Given the description of an element on the screen output the (x, y) to click on. 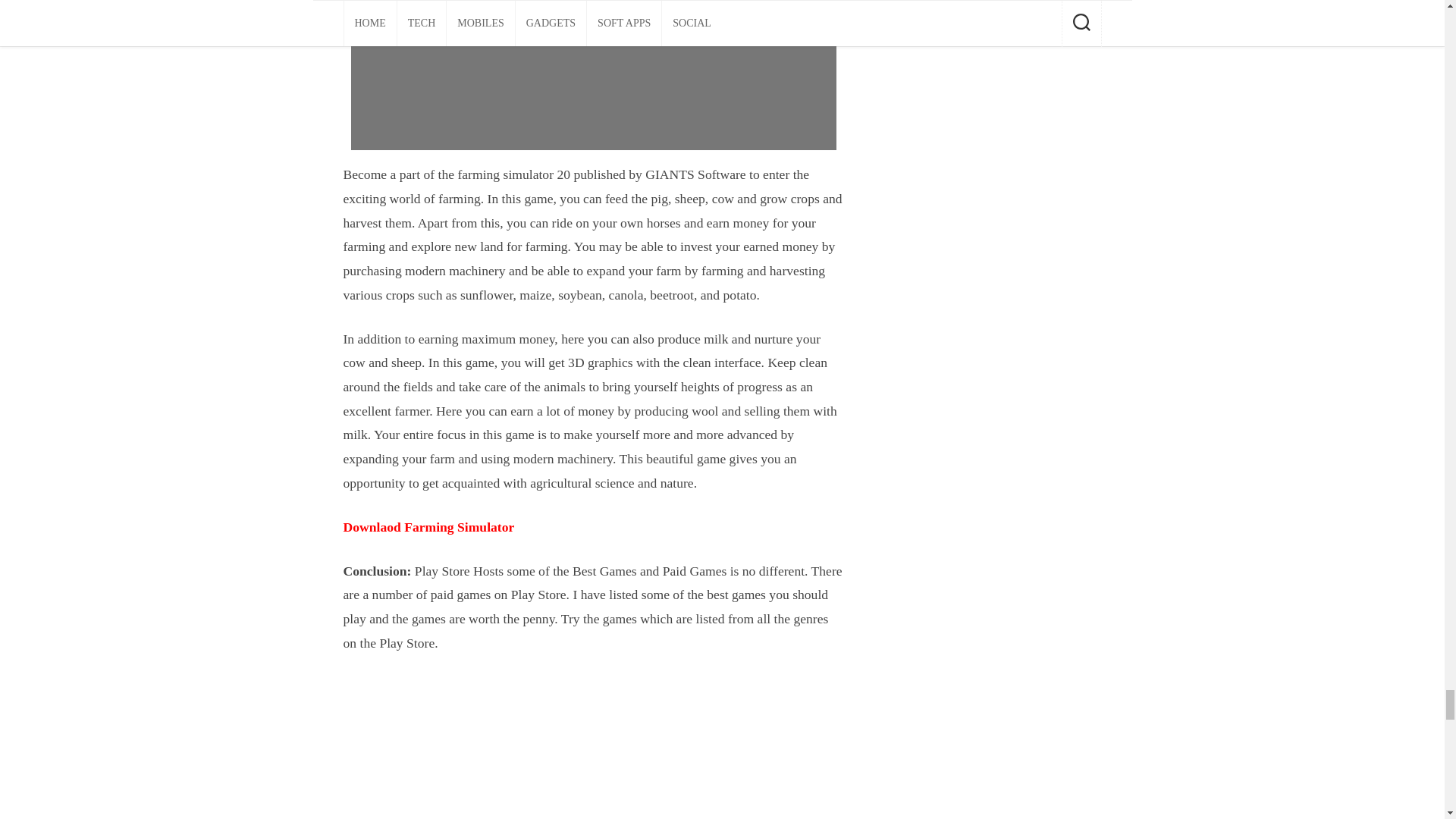
Downlaod Farming Simulator (427, 526)
02FS20 Store Videos ENG (592, 74)
